Given the description of an element on the screen output the (x, y) to click on. 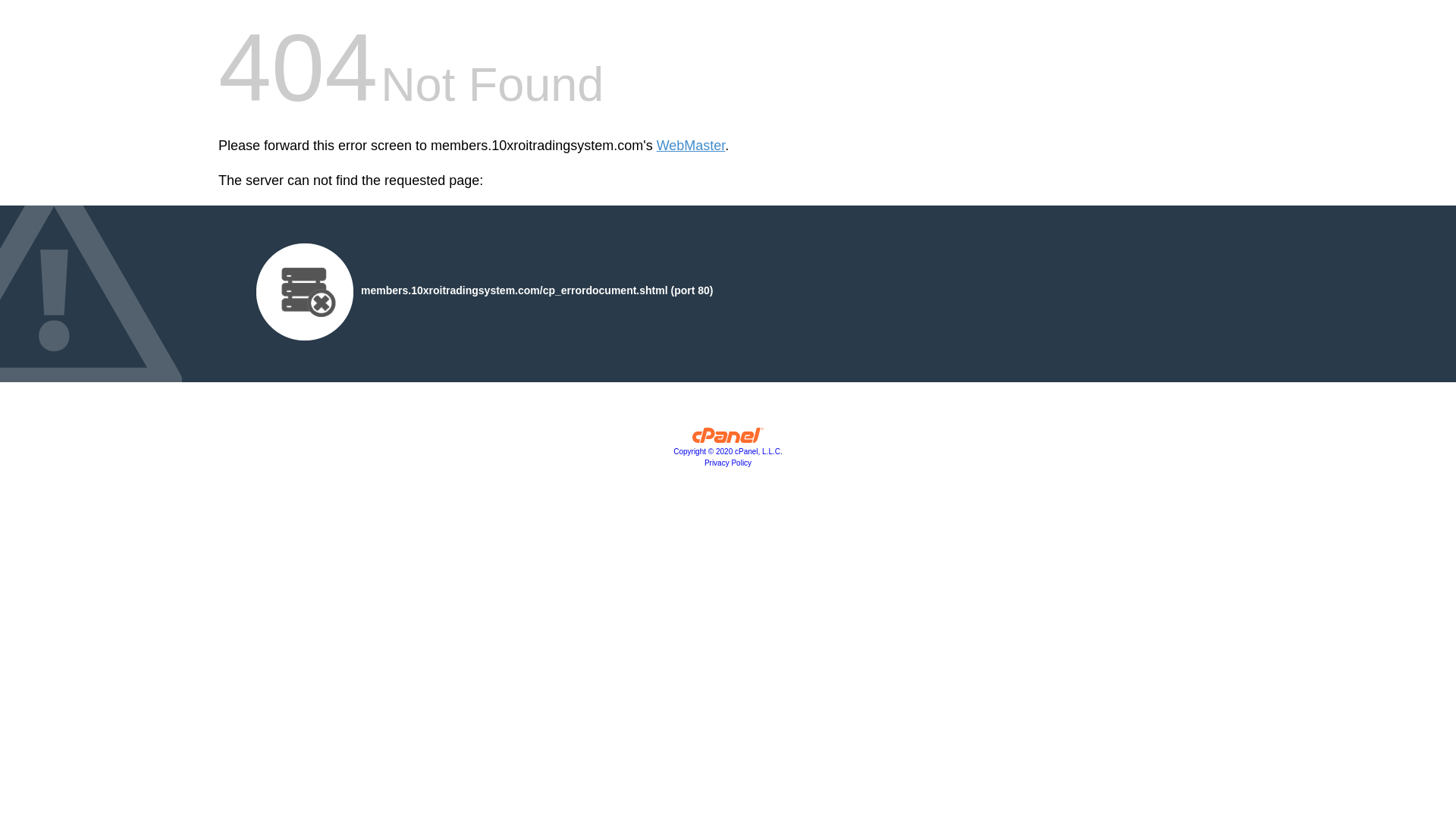
WebMaster Element type: text (690, 145)
Privacy Policy Element type: text (727, 462)
cPanel, Inc. Element type: hover (728, 439)
